Given the description of an element on the screen output the (x, y) to click on. 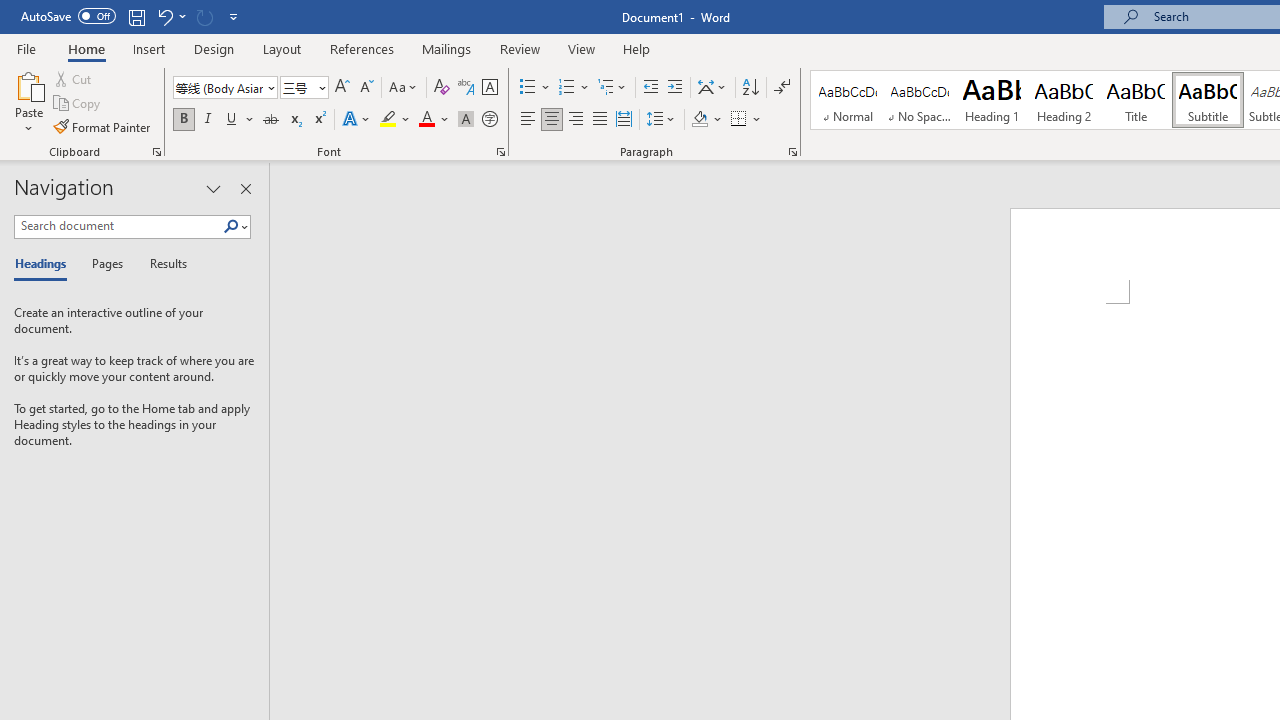
Undo Apply Quick Style (170, 15)
